Given the description of an element on the screen output the (x, y) to click on. 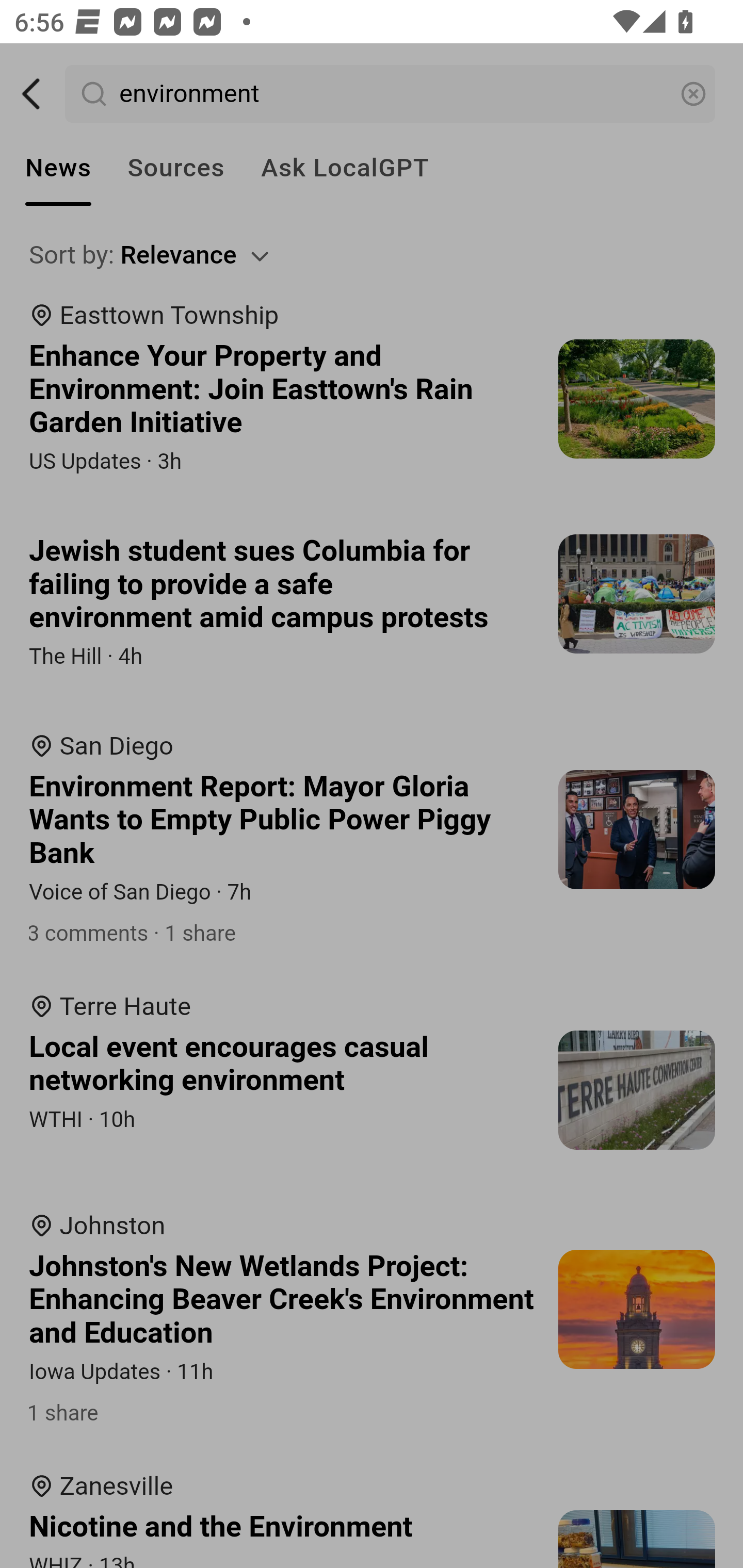
environment (390, 93)
News (58, 168)
Sources (175, 168)
Ask LocalGPT (344, 168)
Sort by:  Relevance (372, 254)
